Given the description of an element on the screen output the (x, y) to click on. 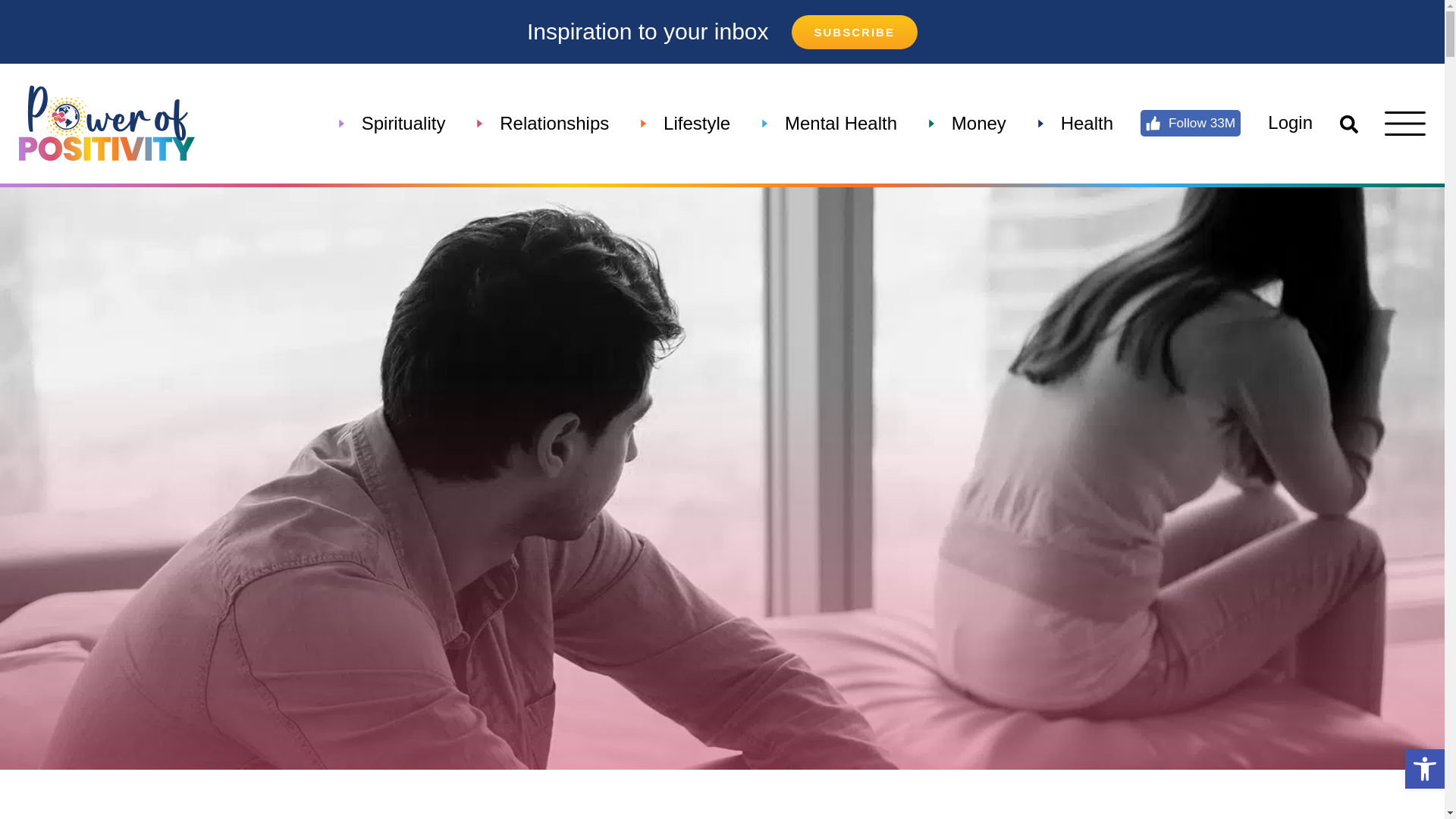
Health (1086, 123)
Mental Health (840, 123)
Accessibility Tools (1424, 768)
Relationships (553, 123)
Follow 33M (1189, 122)
Login (1290, 122)
SUBSCRIBE (854, 32)
Lifestyle (696, 123)
Spirituality (403, 123)
Money (978, 123)
